Given the description of an element on the screen output the (x, y) to click on. 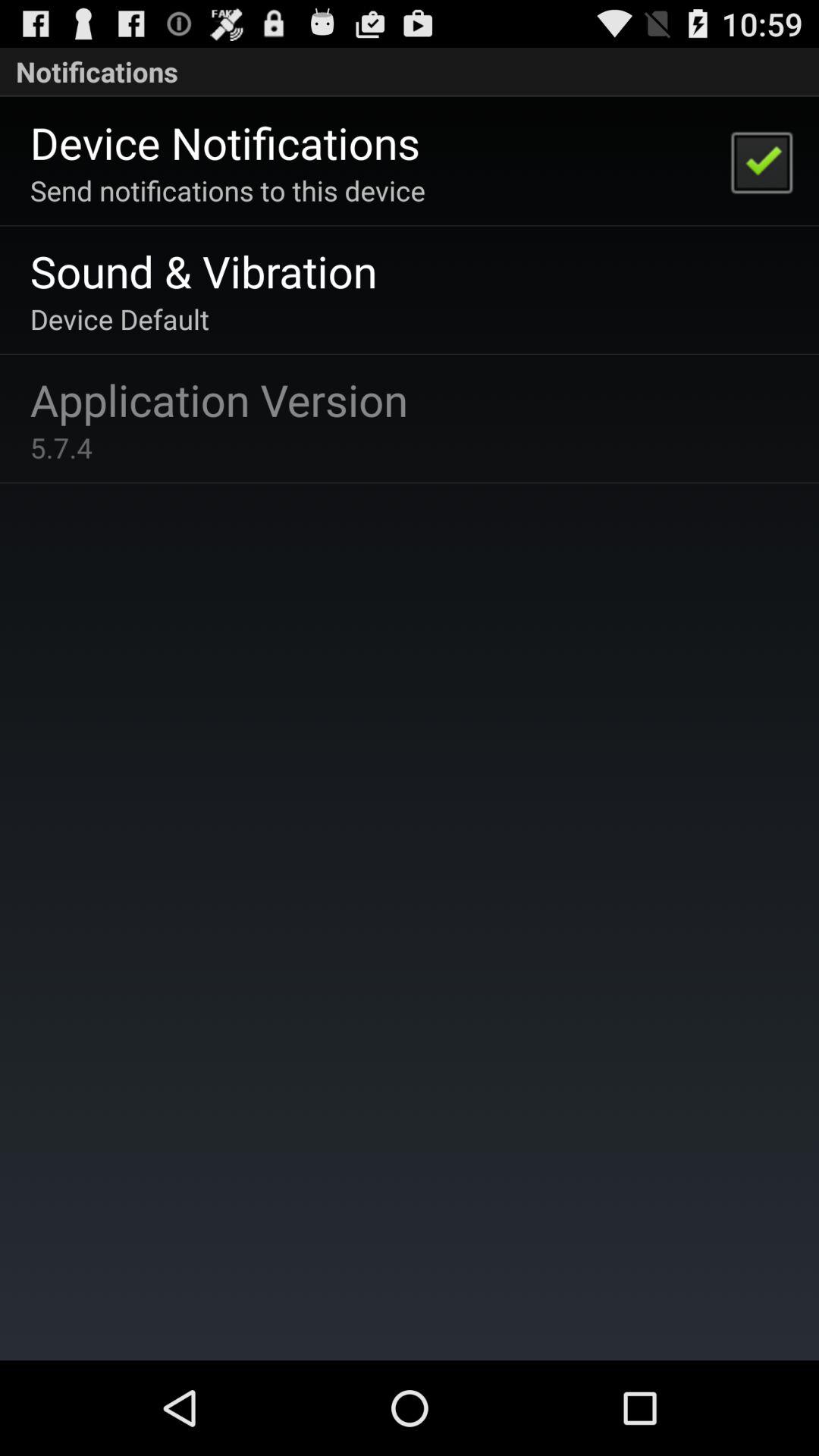
open the icon below the sound & vibration app (119, 318)
